Given the description of an element on the screen output the (x, y) to click on. 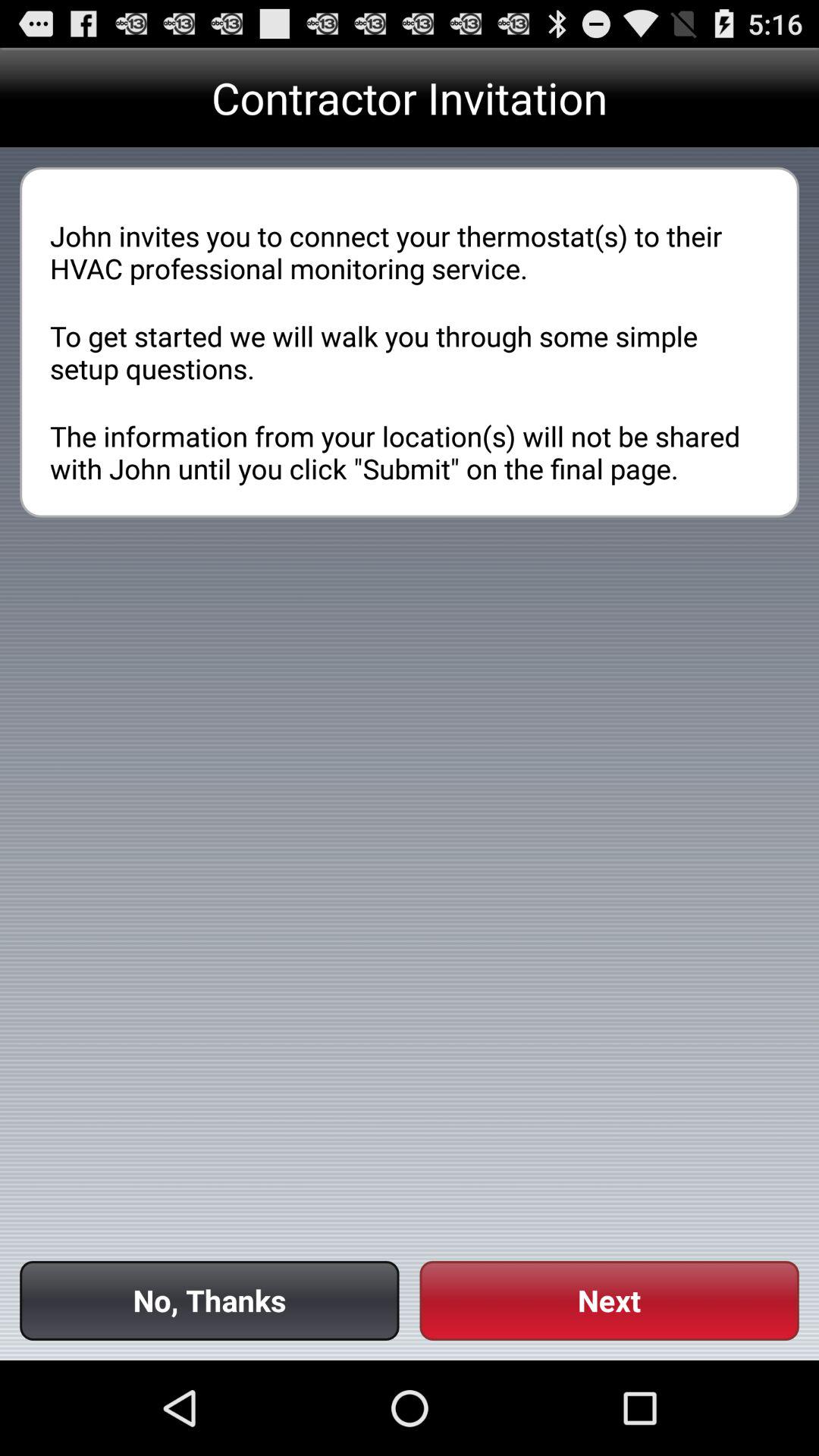
select the no, thanks icon (209, 1300)
